Given the description of an element on the screen output the (x, y) to click on. 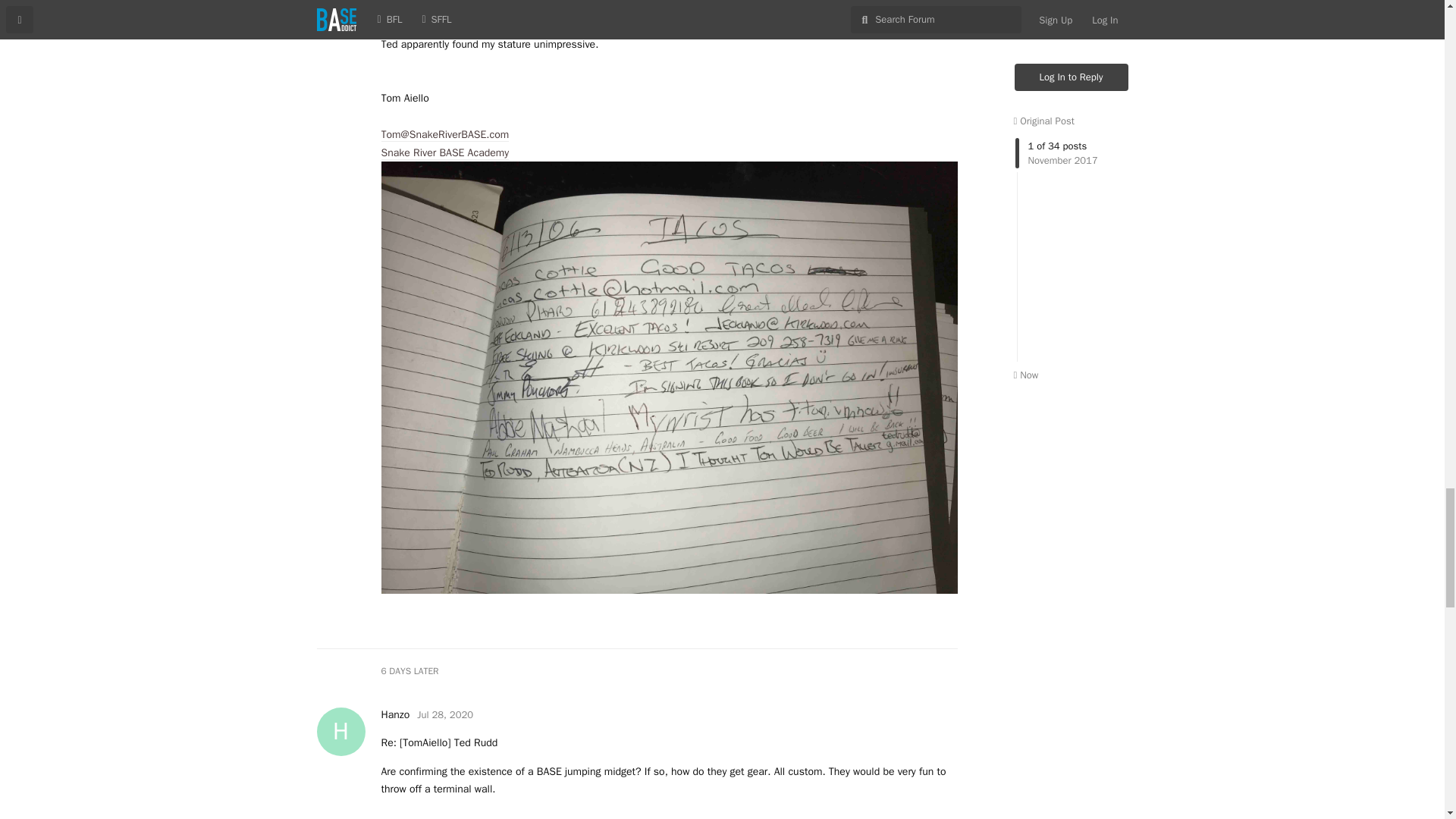
Tuesday, July 28, 2020 2:21 PM (444, 714)
